Given the description of an element on the screen output the (x, y) to click on. 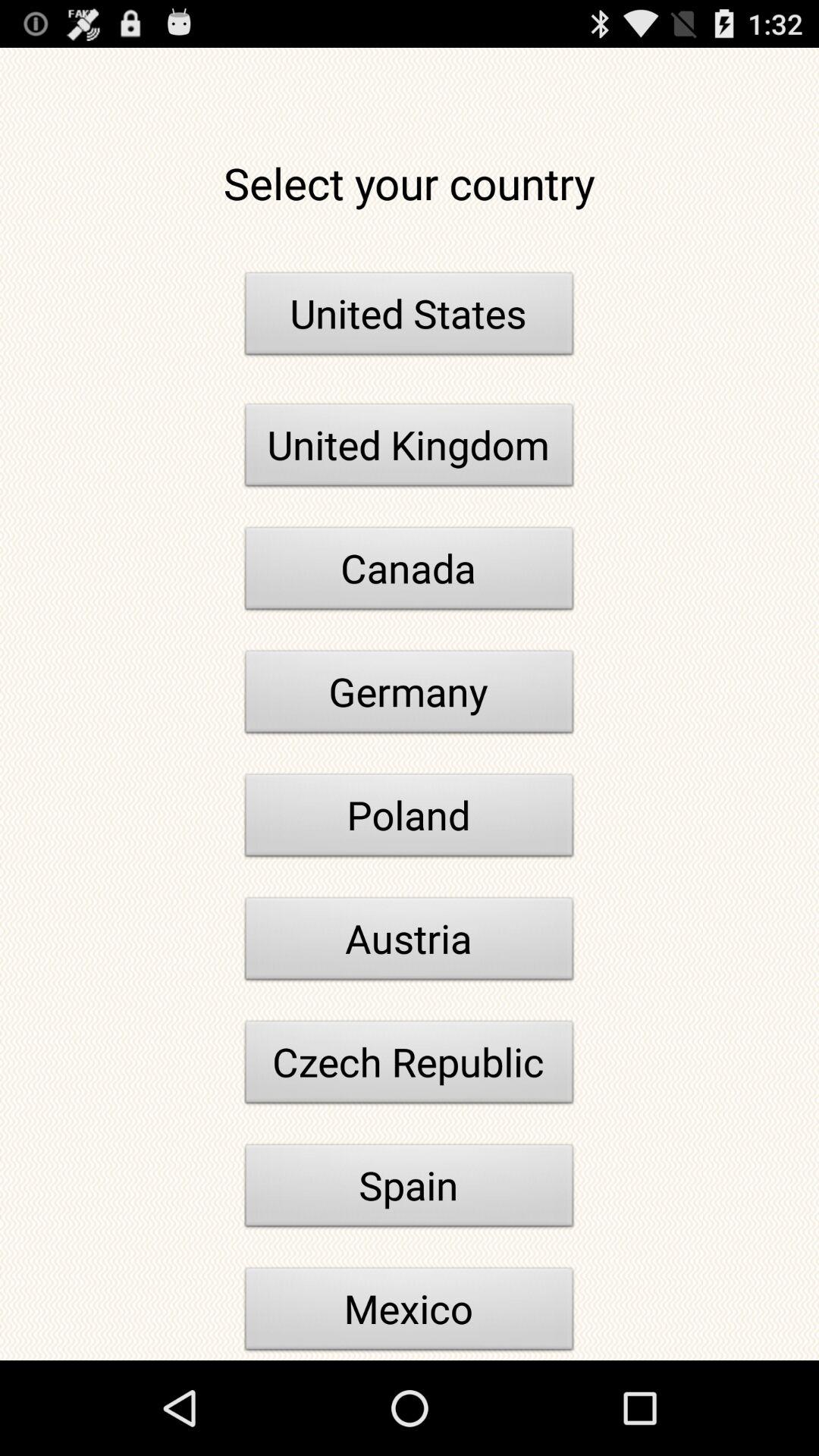
flip until united states icon (409, 317)
